Given the description of an element on the screen output the (x, y) to click on. 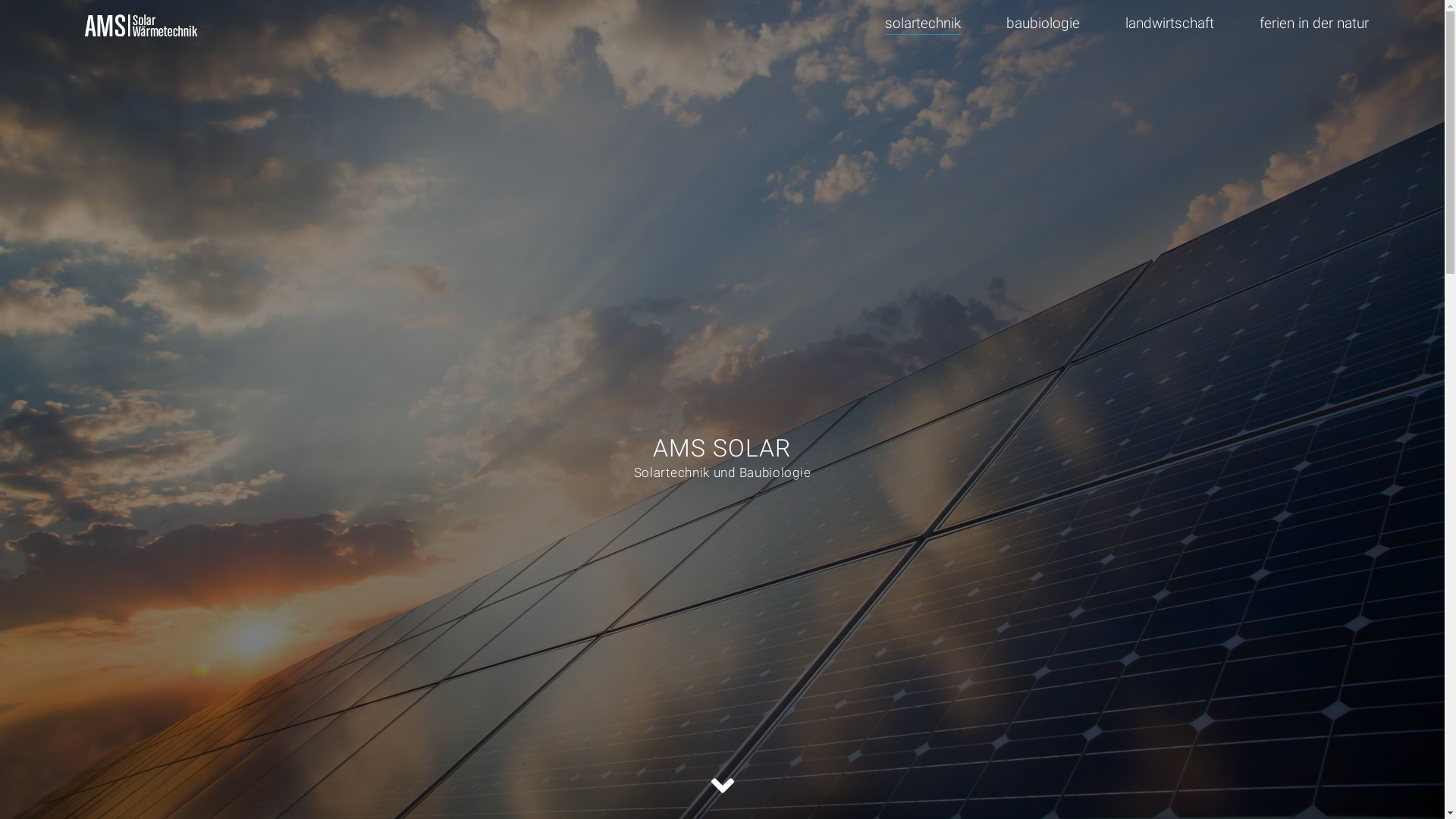
landwirtschaft Element type: text (1169, 23)
solartechnik Element type: text (922, 23)
ferien in der natur Element type: text (1313, 23)
baubiologie Element type: text (1042, 23)
Logo Element type: hover (143, 22)
